Given the description of an element on the screen output the (x, y) to click on. 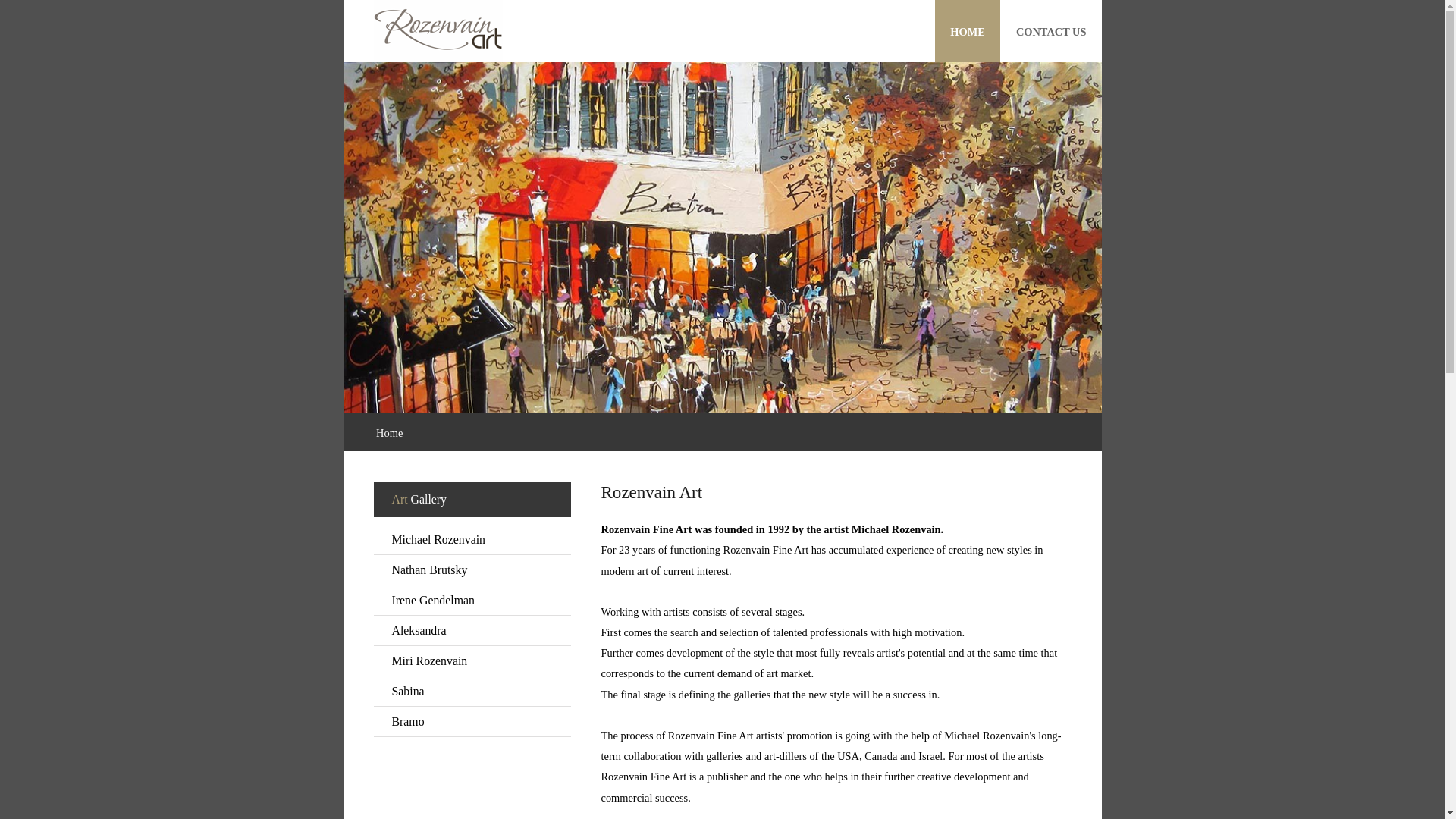
Nathan Brutsky (471, 570)
CONTACT US (1051, 32)
Aleksandra (471, 630)
Sabina (471, 691)
HOME (967, 32)
Bramo (471, 721)
Irene Gendelman (471, 600)
Michael Rozenvain (471, 539)
Miri Rozenvain (471, 661)
